Given the description of an element on the screen output the (x, y) to click on. 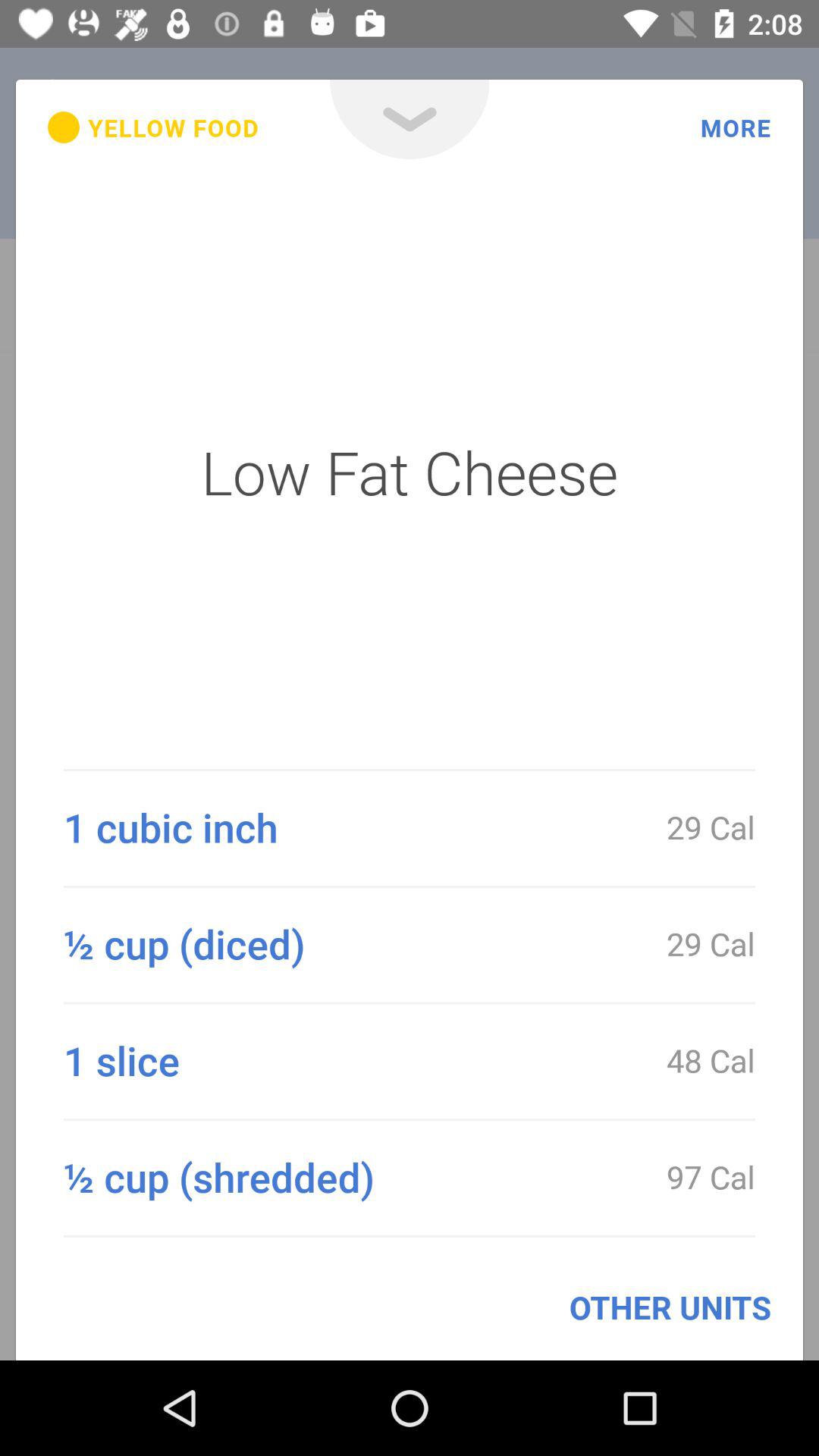
choose more at the top right corner (735, 127)
